Given the description of an element on the screen output the (x, y) to click on. 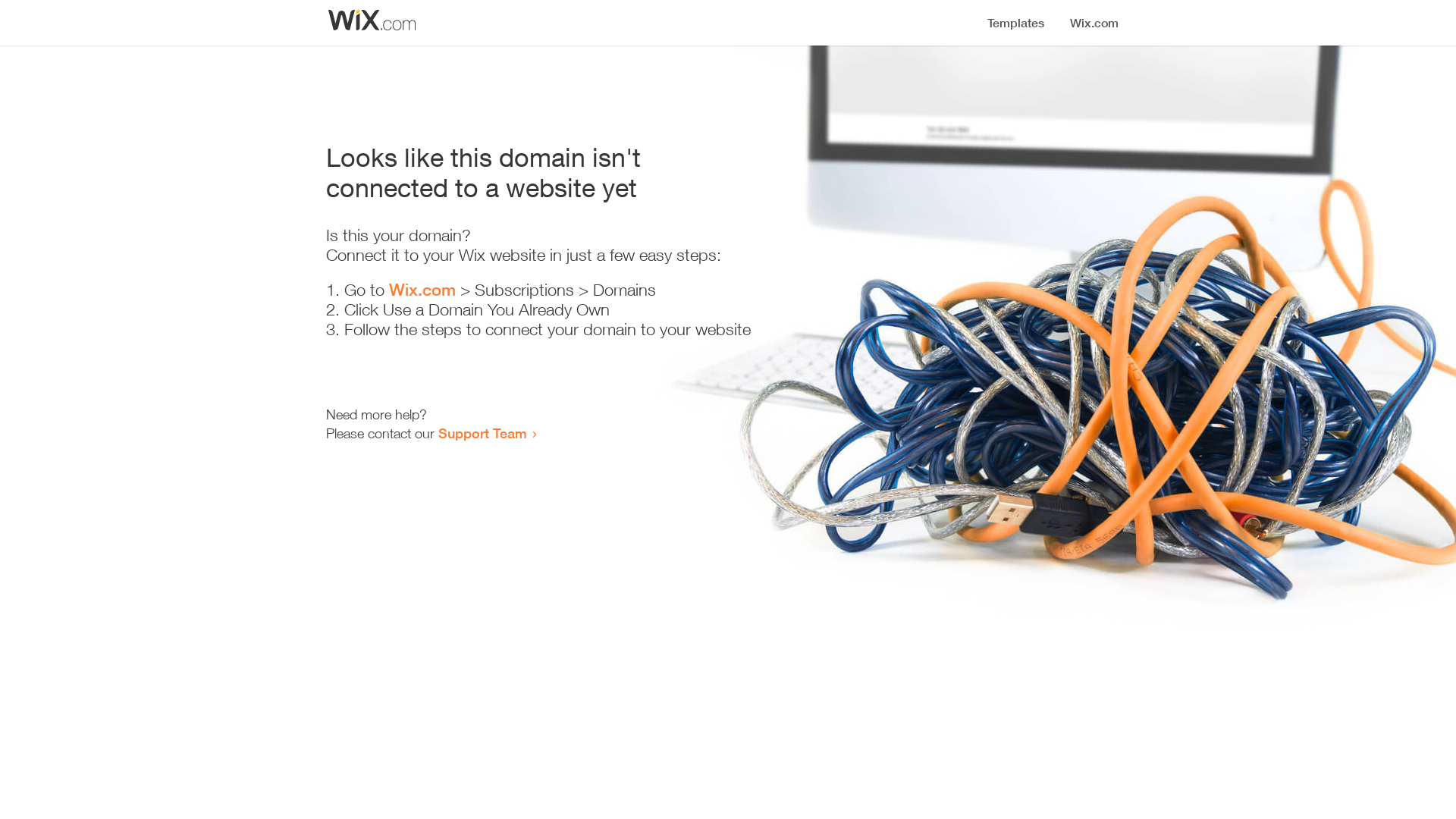
Wix.com Element type: text (422, 289)
Support Team Element type: text (482, 432)
